Given the description of an element on the screen output the (x, y) to click on. 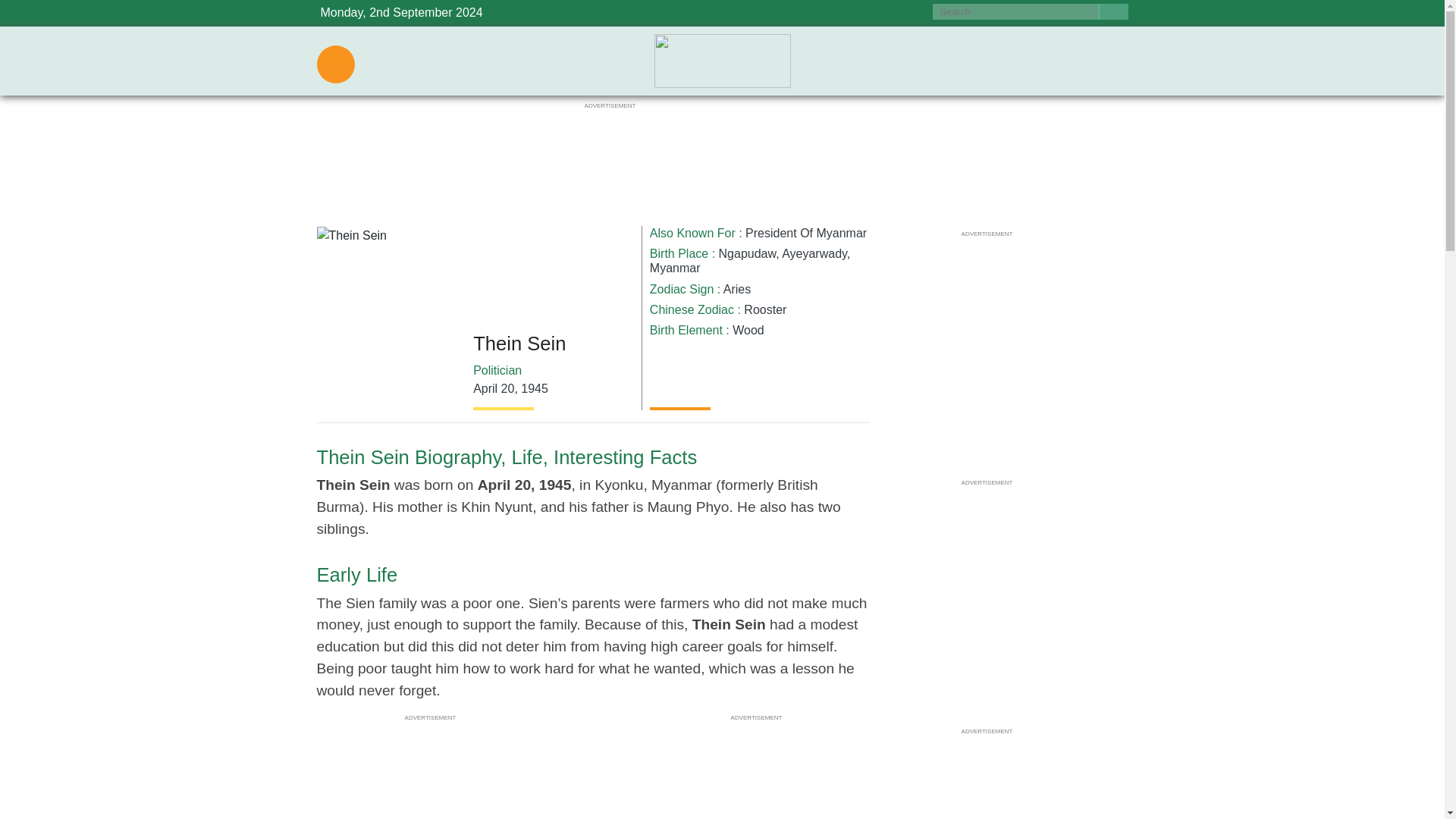
Politician (497, 369)
1945 (534, 388)
April 20 (493, 388)
Zodiac Sign (681, 288)
Myanmar (674, 267)
Ngapudaw (747, 253)
Chinese Zodiac (691, 309)
President Of Myanmar (805, 232)
Ayeyarwady (814, 253)
Aries (737, 288)
